Given the description of an element on the screen output the (x, y) to click on. 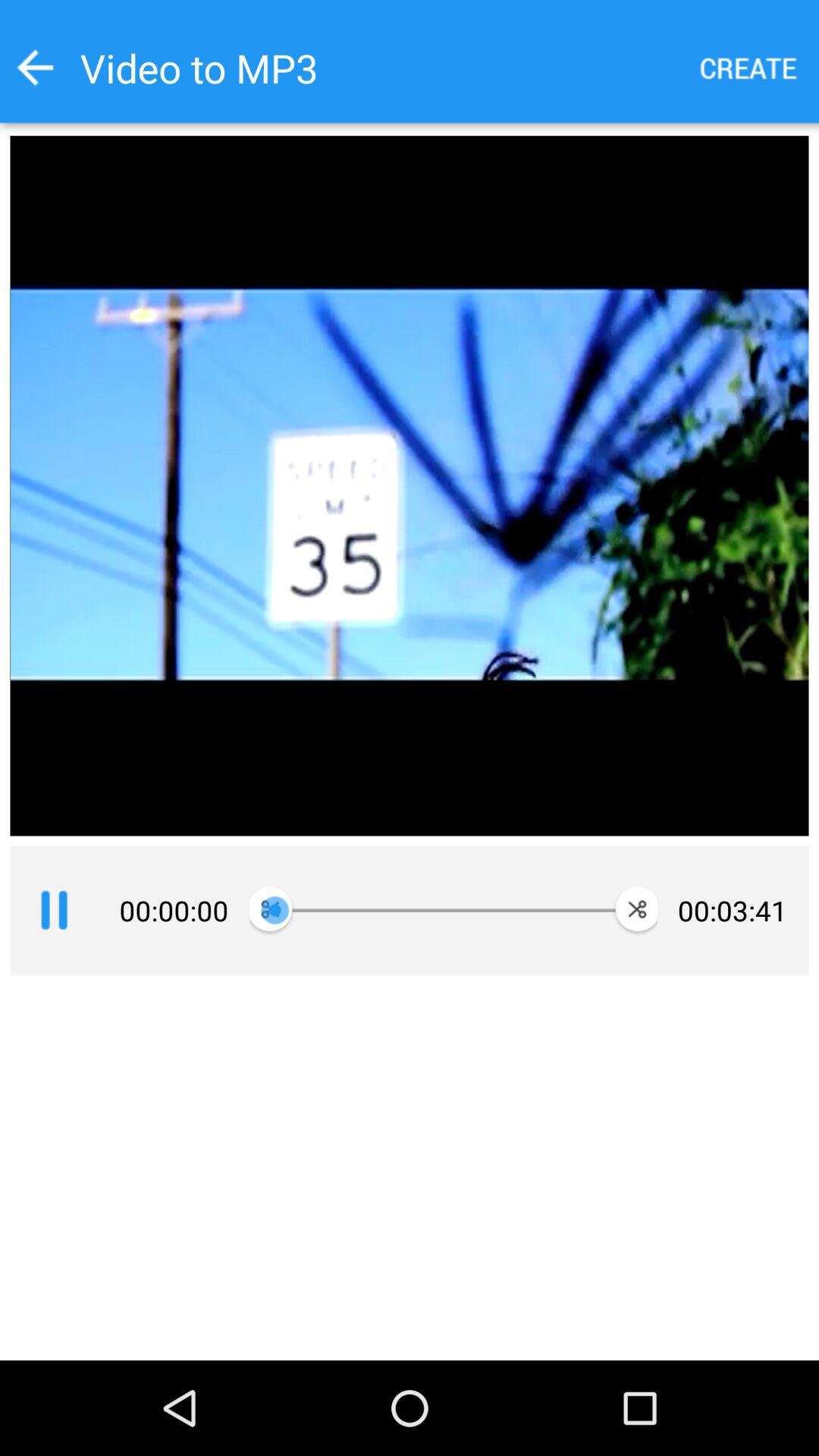
create a new option (749, 67)
